Given the description of an element on the screen output the (x, y) to click on. 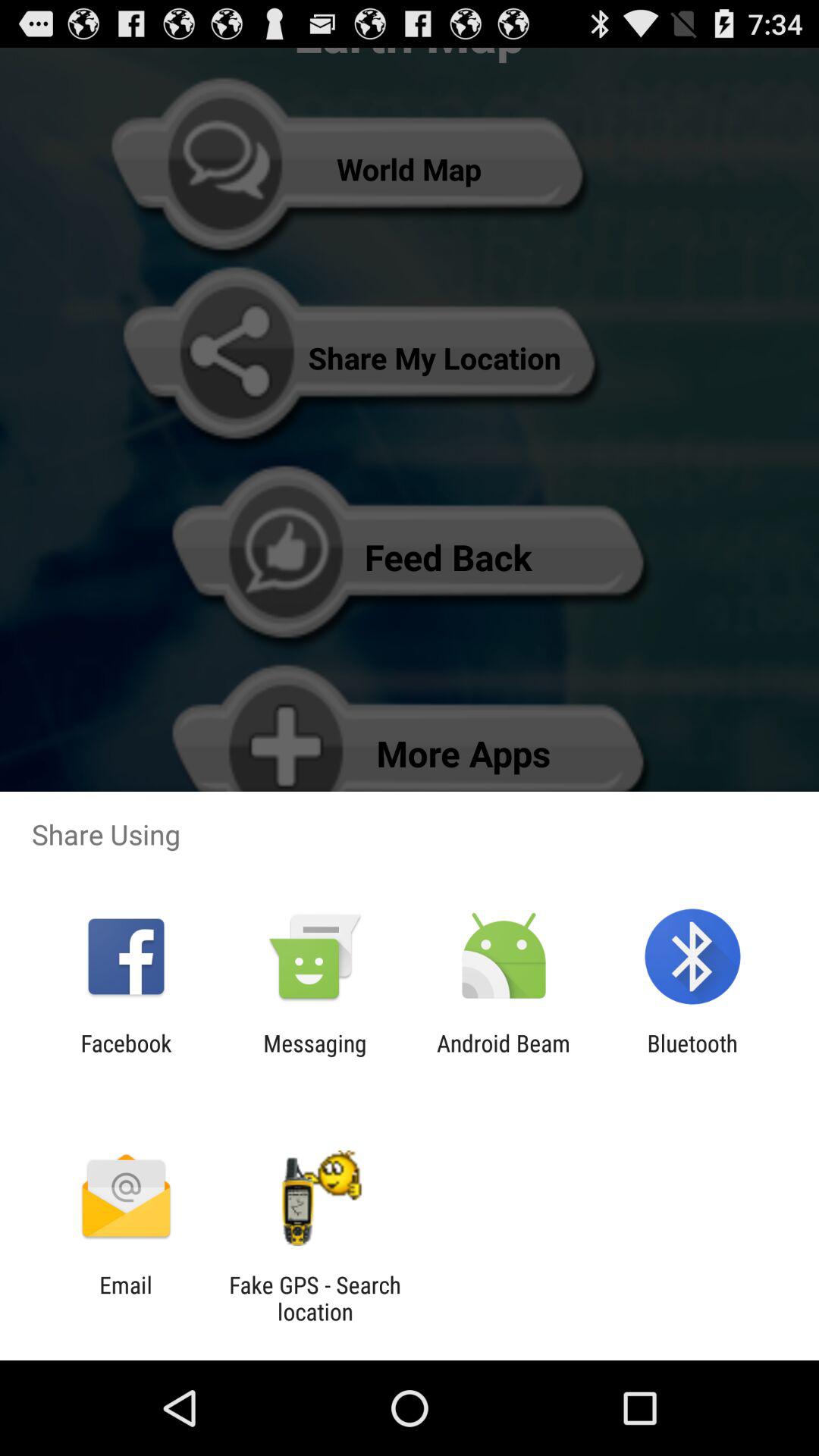
open item to the left of the messaging (125, 1056)
